Given the description of an element on the screen output the (x, y) to click on. 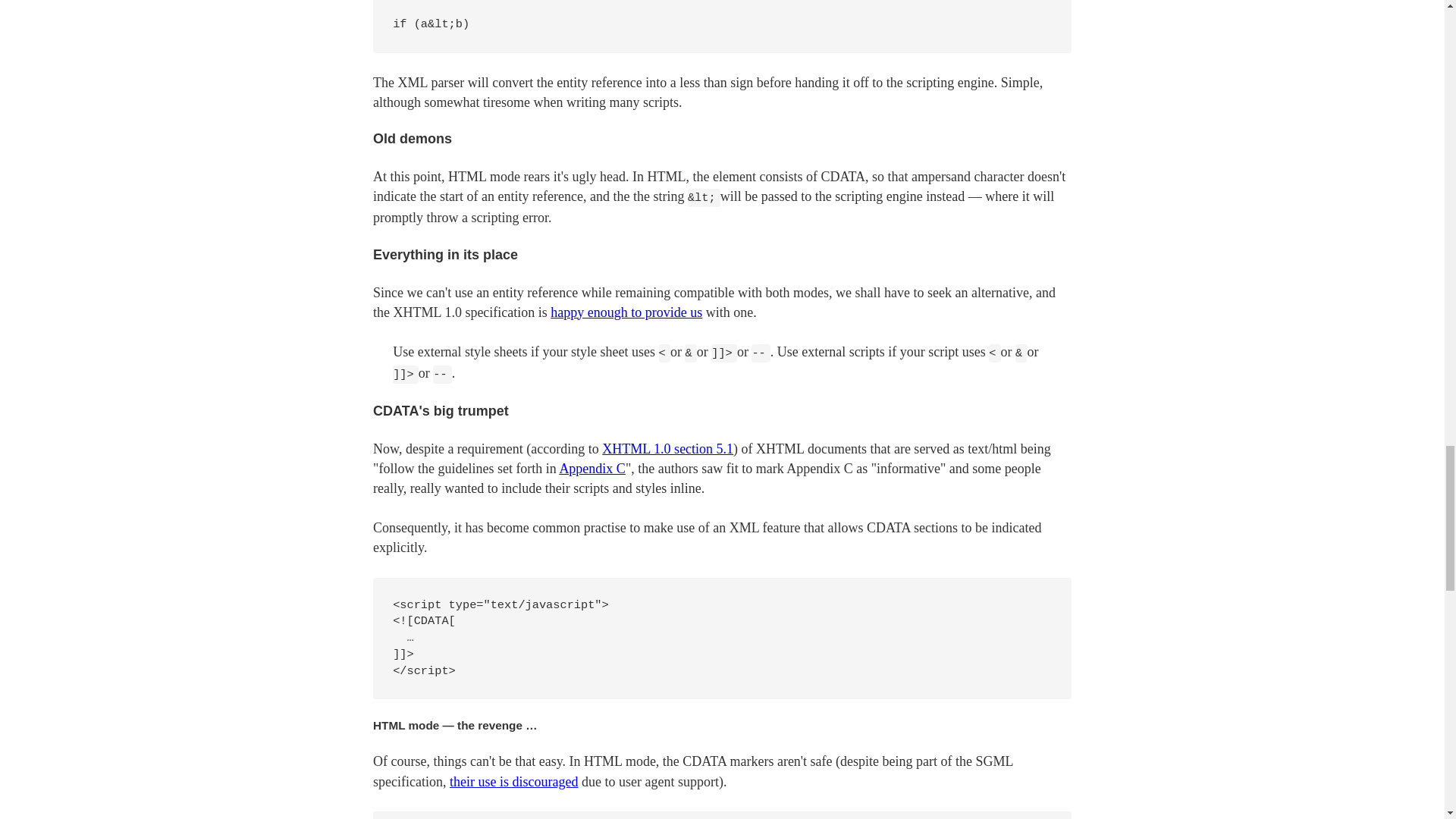
Appendix C (592, 468)
happy enough to provide us (625, 312)
XHTML 1.0 section 5.1 (667, 448)
their use is discouraged (513, 781)
